Given the description of an element on the screen output the (x, y) to click on. 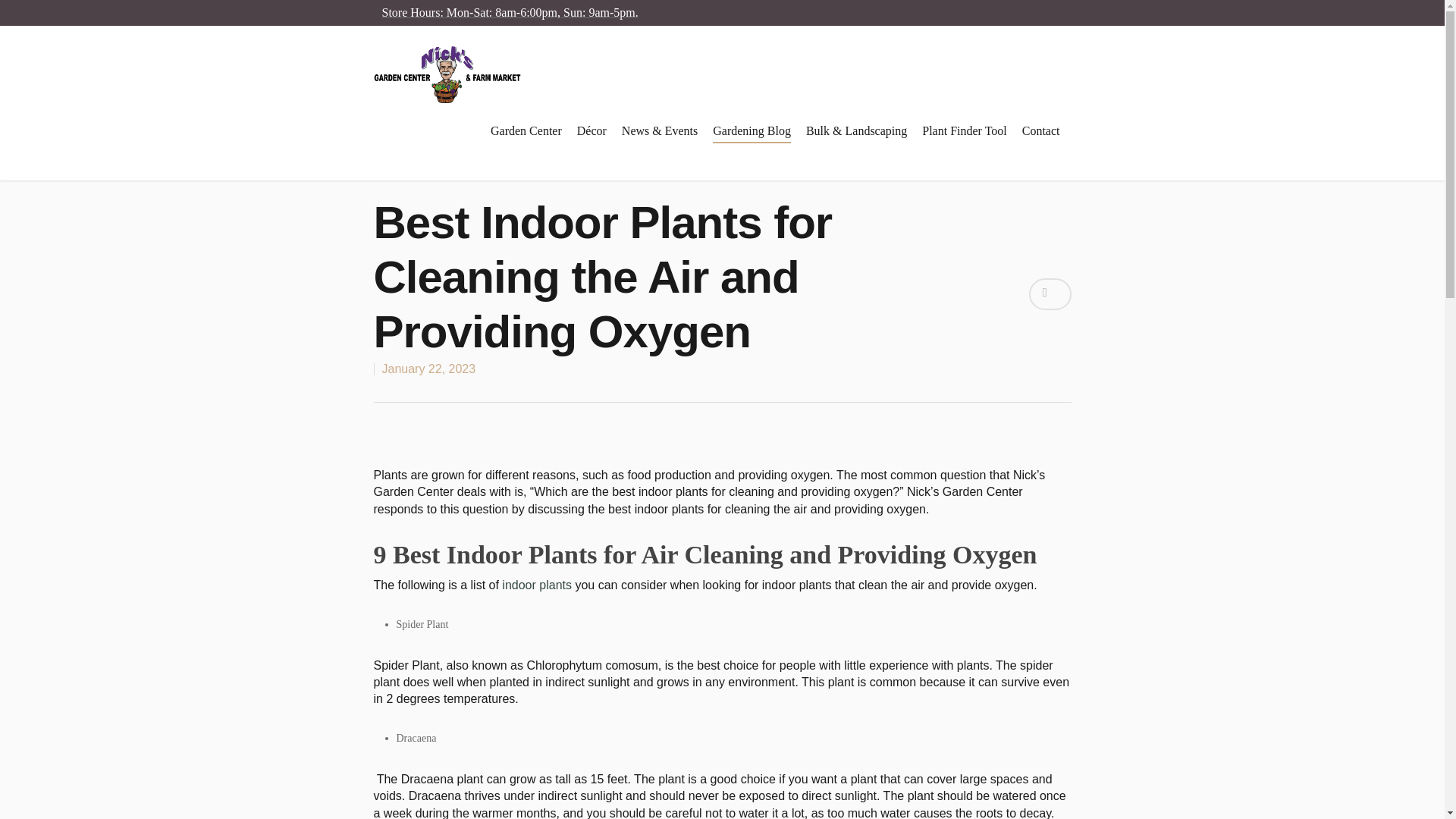
indoor plants (537, 584)
Garden Center (526, 141)
Plant Finder Tool (963, 141)
Store Hours: Mon-Sat: 8am-6:00pm, Sun: 9am-5pm. (510, 12)
Gardening Blog (751, 141)
